Given the description of an element on the screen output the (x, y) to click on. 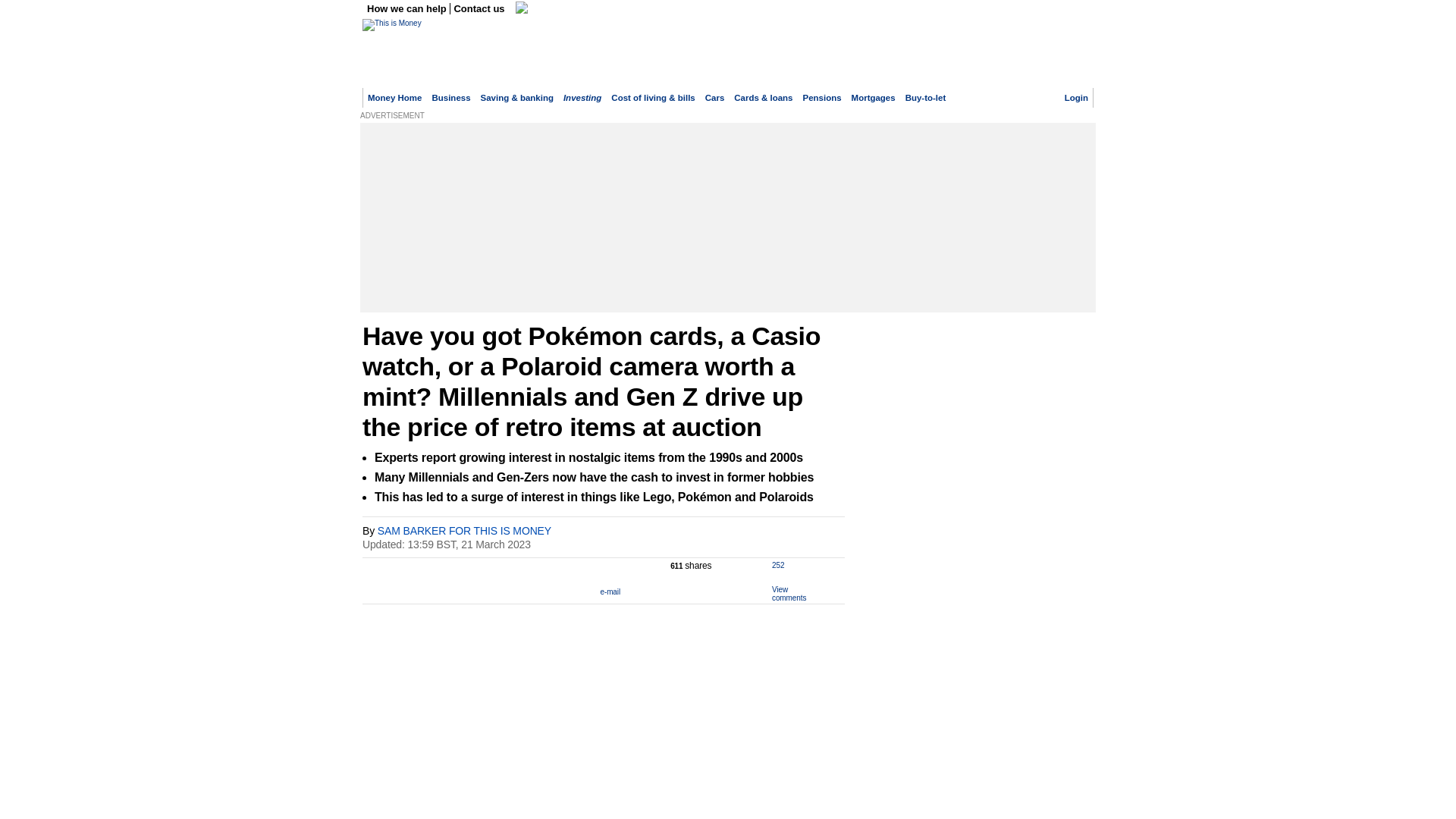
Contact us (479, 8)
Mortgages (873, 97)
Investing (582, 97)
Pensions (822, 97)
Buy-to-let (925, 97)
Cars (714, 97)
How we can help (407, 8)
Business (450, 97)
Money Home (395, 97)
Login (1075, 97)
